Given the description of an element on the screen output the (x, y) to click on. 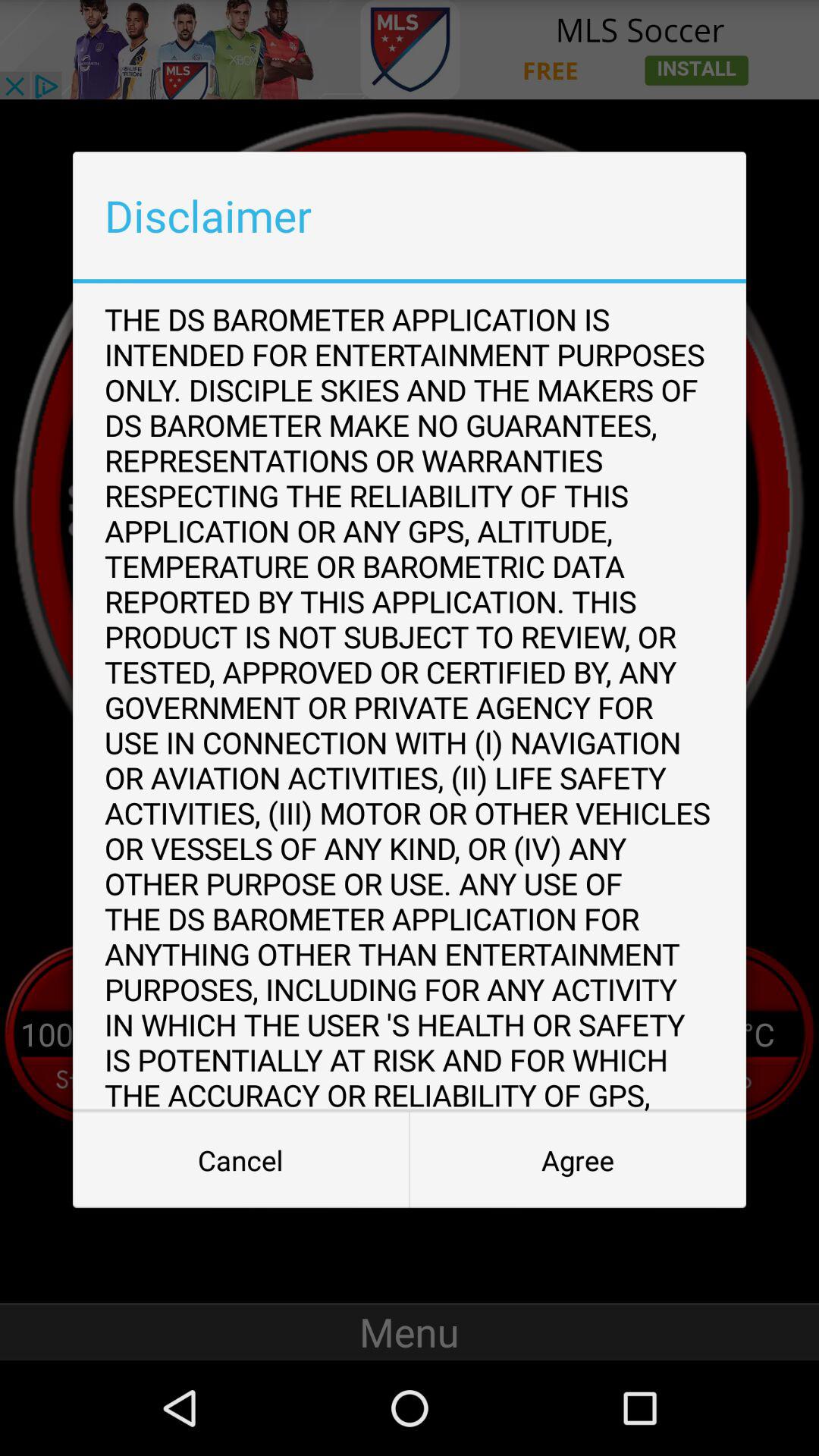
scroll until the cancel item (240, 1160)
